Given the description of an element on the screen output the (x, y) to click on. 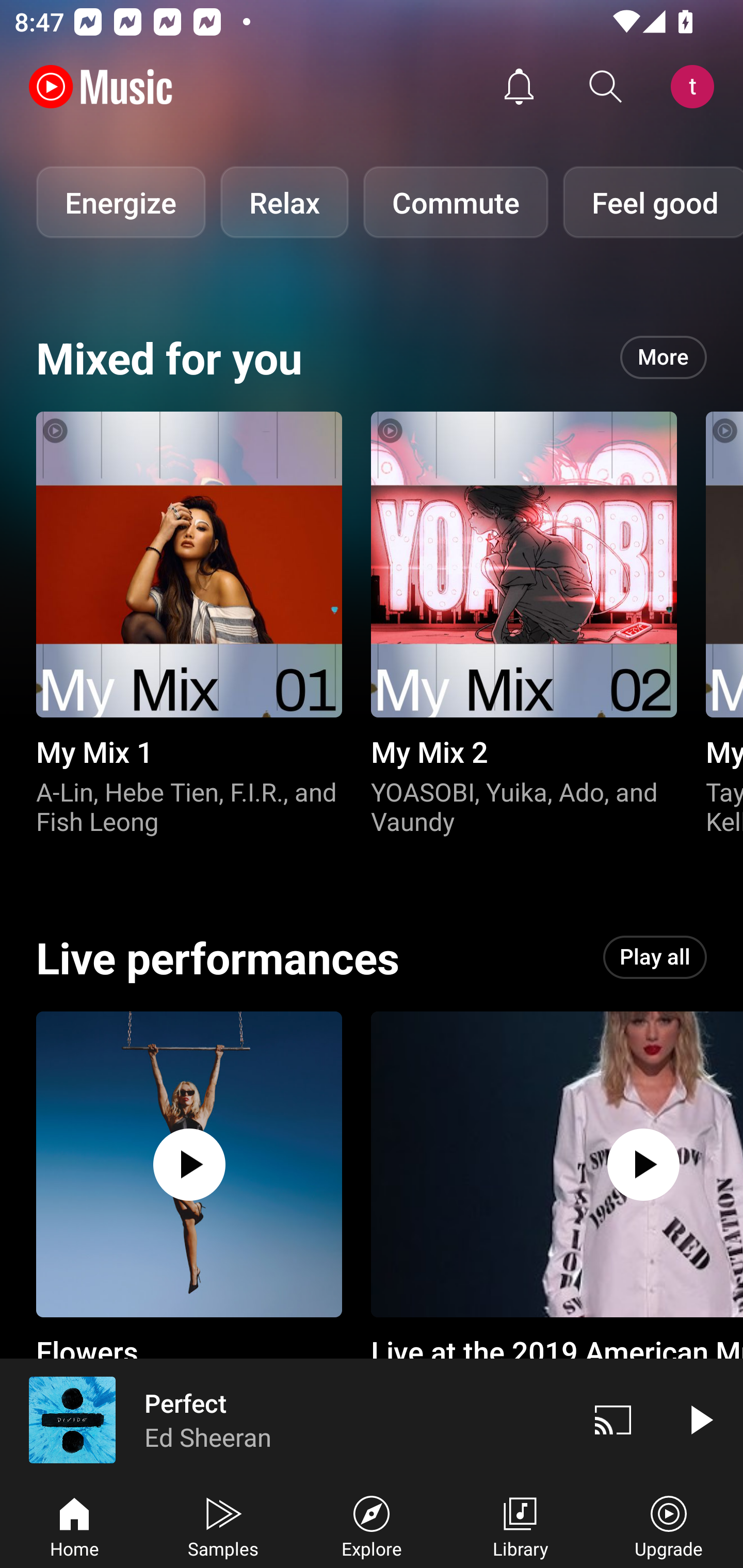
Activity feed (518, 86)
Search (605, 86)
Account (696, 86)
Perfect Ed Sheeran (284, 1419)
Cast. Disconnected (612, 1419)
Play video (699, 1419)
Home (74, 1524)
Samples (222, 1524)
Explore (371, 1524)
Library (519, 1524)
Upgrade (668, 1524)
